Given the description of an element on the screen output the (x, y) to click on. 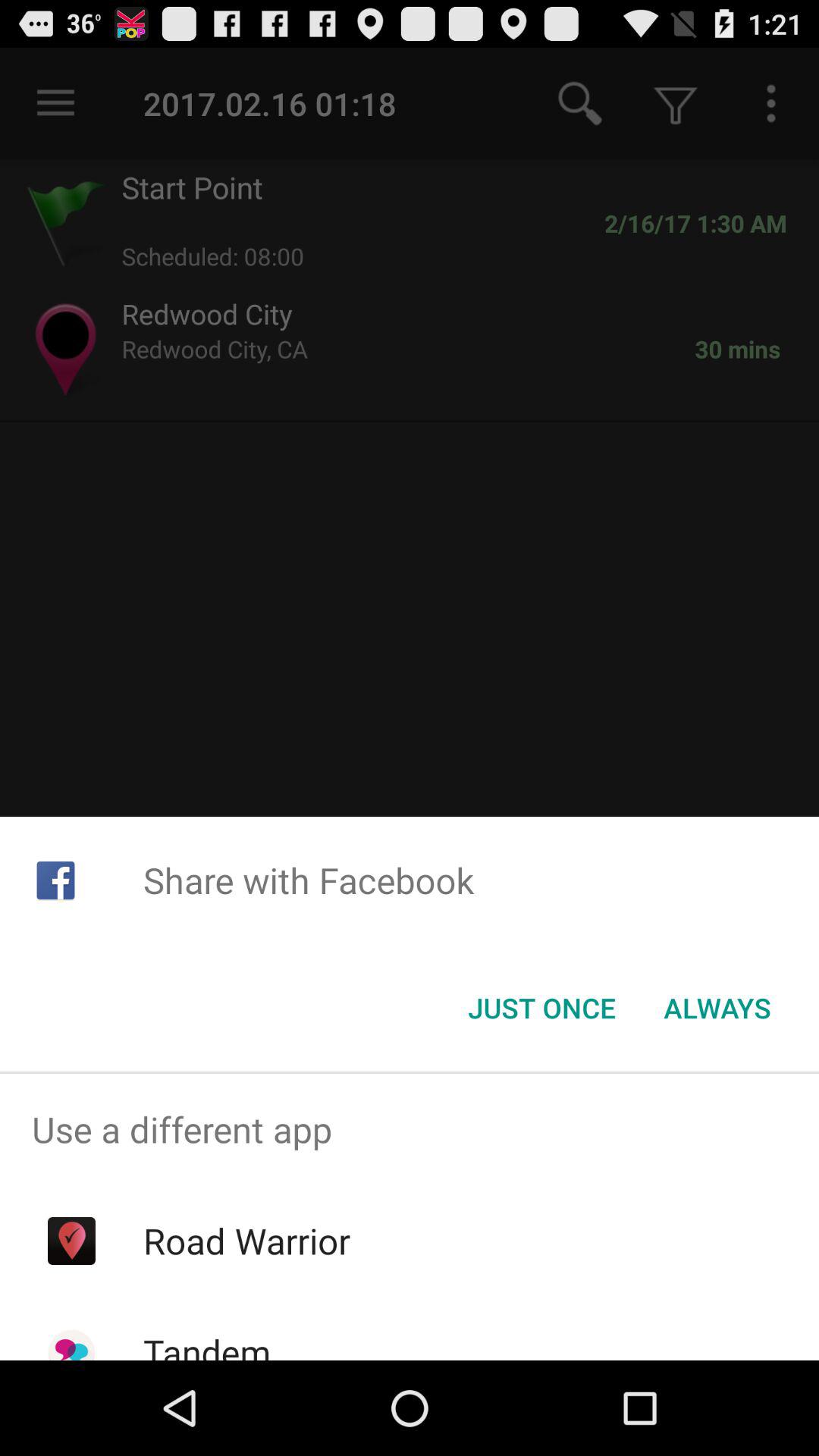
swipe until the tandem icon (206, 1344)
